Given the description of an element on the screen output the (x, y) to click on. 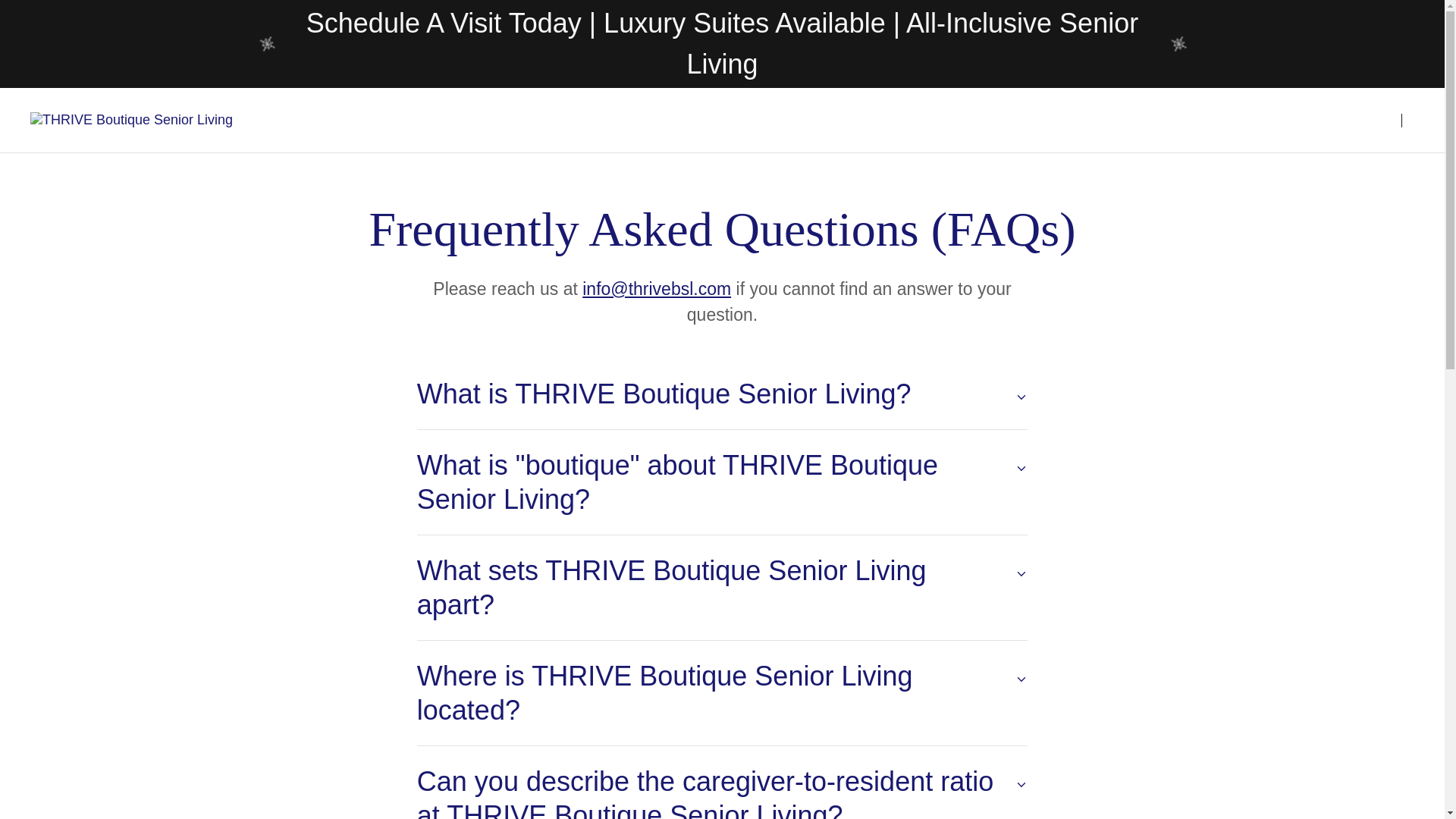
THRIVE Boutique Senior Living (131, 119)
What is "boutique" about THRIVE Boutique Senior Living? (721, 482)
Where is THRIVE Boutique Senior Living located? (721, 692)
What is THRIVE Boutique Senior Living? (721, 393)
What sets THRIVE Boutique Senior Living apart? (721, 587)
